Given the description of an element on the screen output the (x, y) to click on. 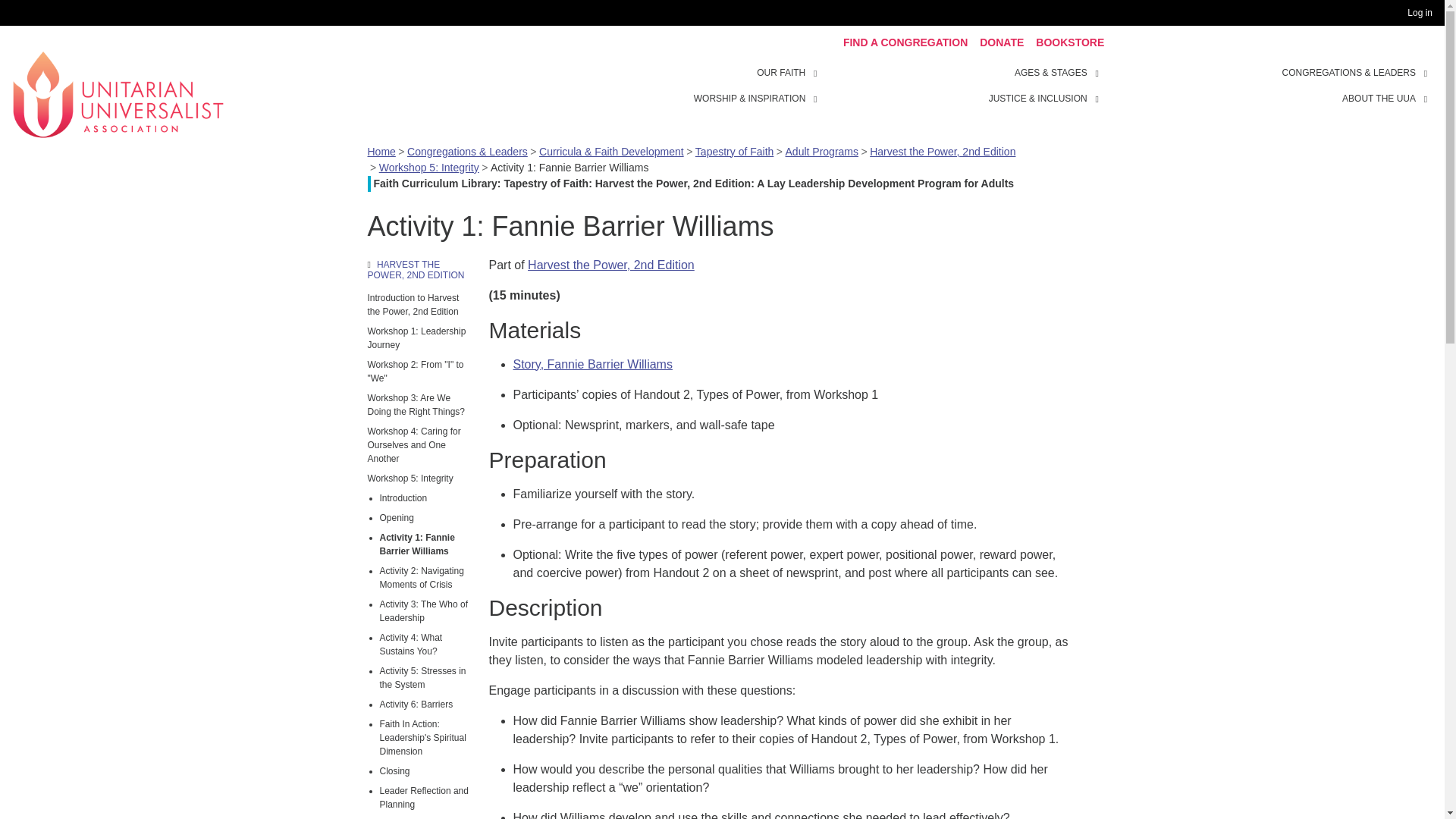
Go up this menu (418, 270)
OUR FAITH (817, 71)
Home (117, 92)
Log in (1423, 12)
Site Menu (962, 85)
FIND A CONGREGATION (905, 42)
BOOKSTORE (1069, 42)
DONATE (1001, 42)
OUR FAITH (781, 72)
